Given the description of an element on the screen output the (x, y) to click on. 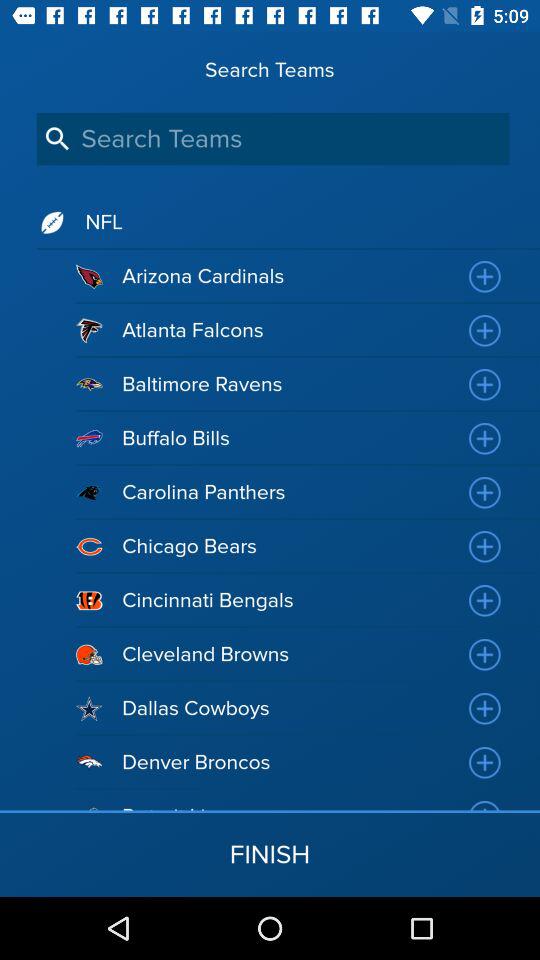
jump to finish icon (270, 854)
